Given the description of an element on the screen output the (x, y) to click on. 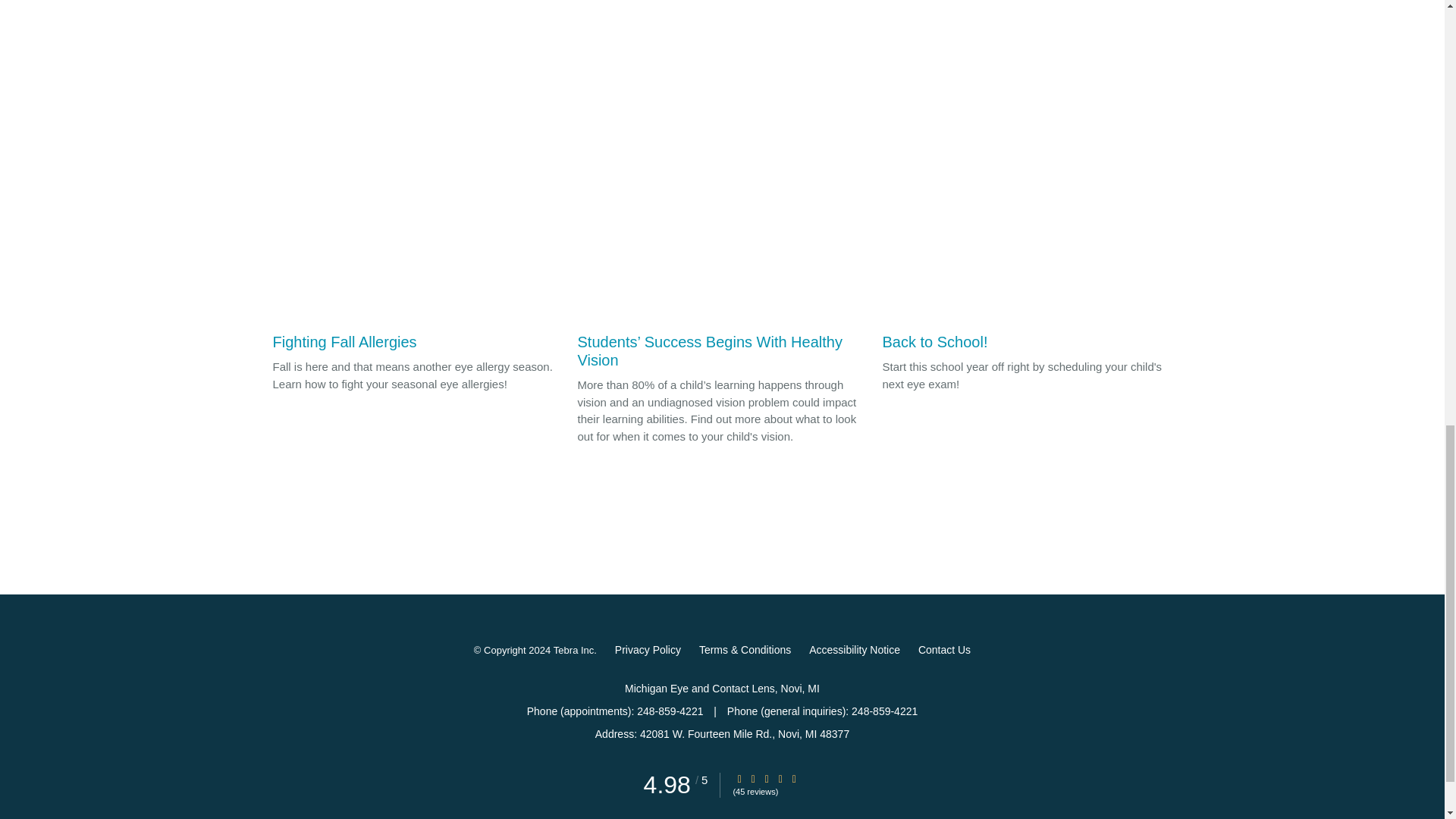
Star Rating (794, 778)
Star Rating (780, 778)
Star Rating (753, 778)
Fighting Fall Allergies (417, 252)
Star Rating (738, 778)
Star Rating (766, 778)
